Given the description of an element on the screen output the (x, y) to click on. 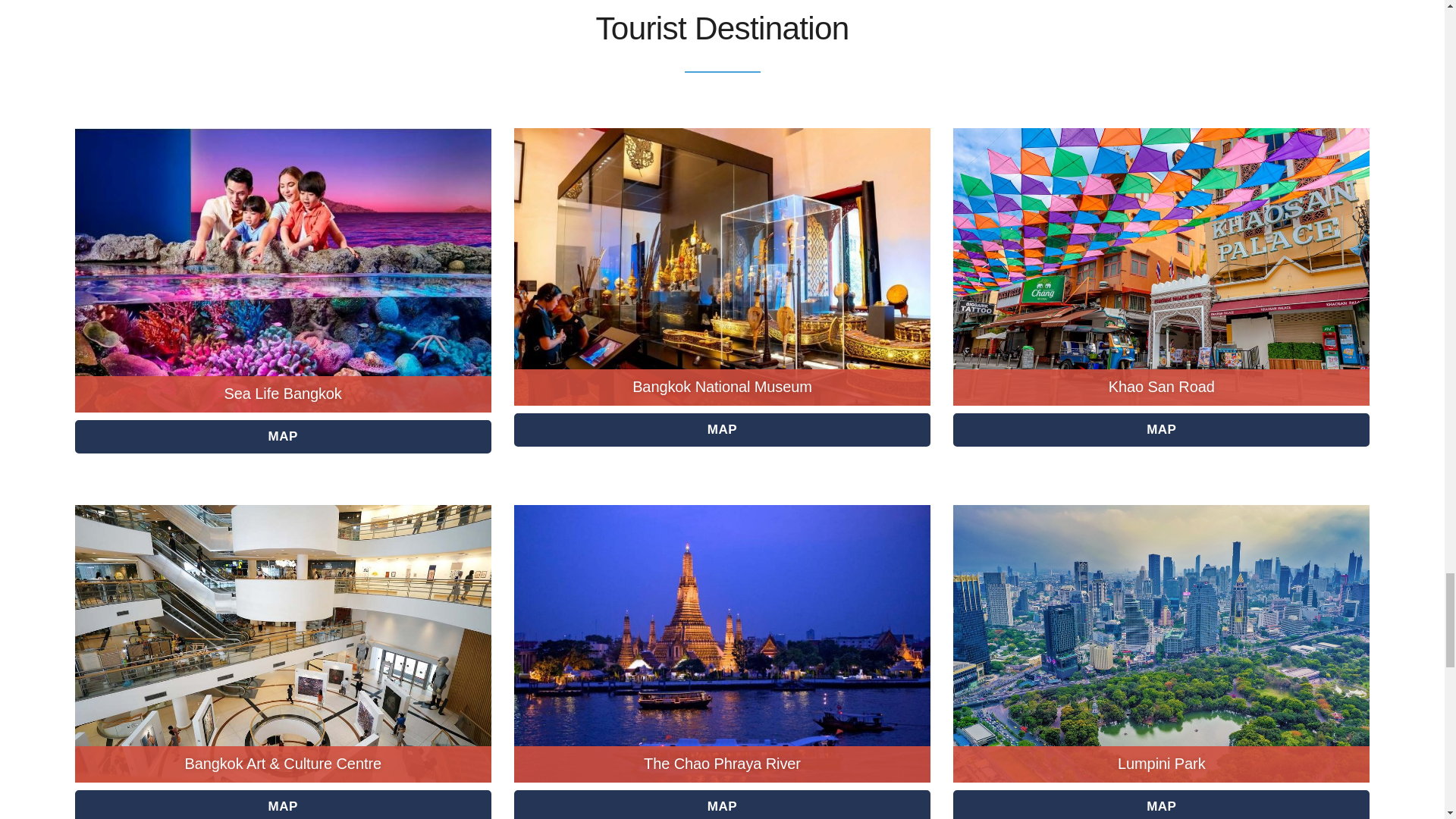
Khao San Road (1161, 386)
MAP (1161, 804)
Bangkok National Museum (721, 386)
MAP (283, 436)
MAP (283, 804)
Lumpini Park (1161, 763)
The Chao Phraya River (721, 763)
MAP (1161, 429)
MAP (721, 804)
MAP (721, 429)
Sea Life Bangkok (283, 393)
